Given the description of an element on the screen output the (x, y) to click on. 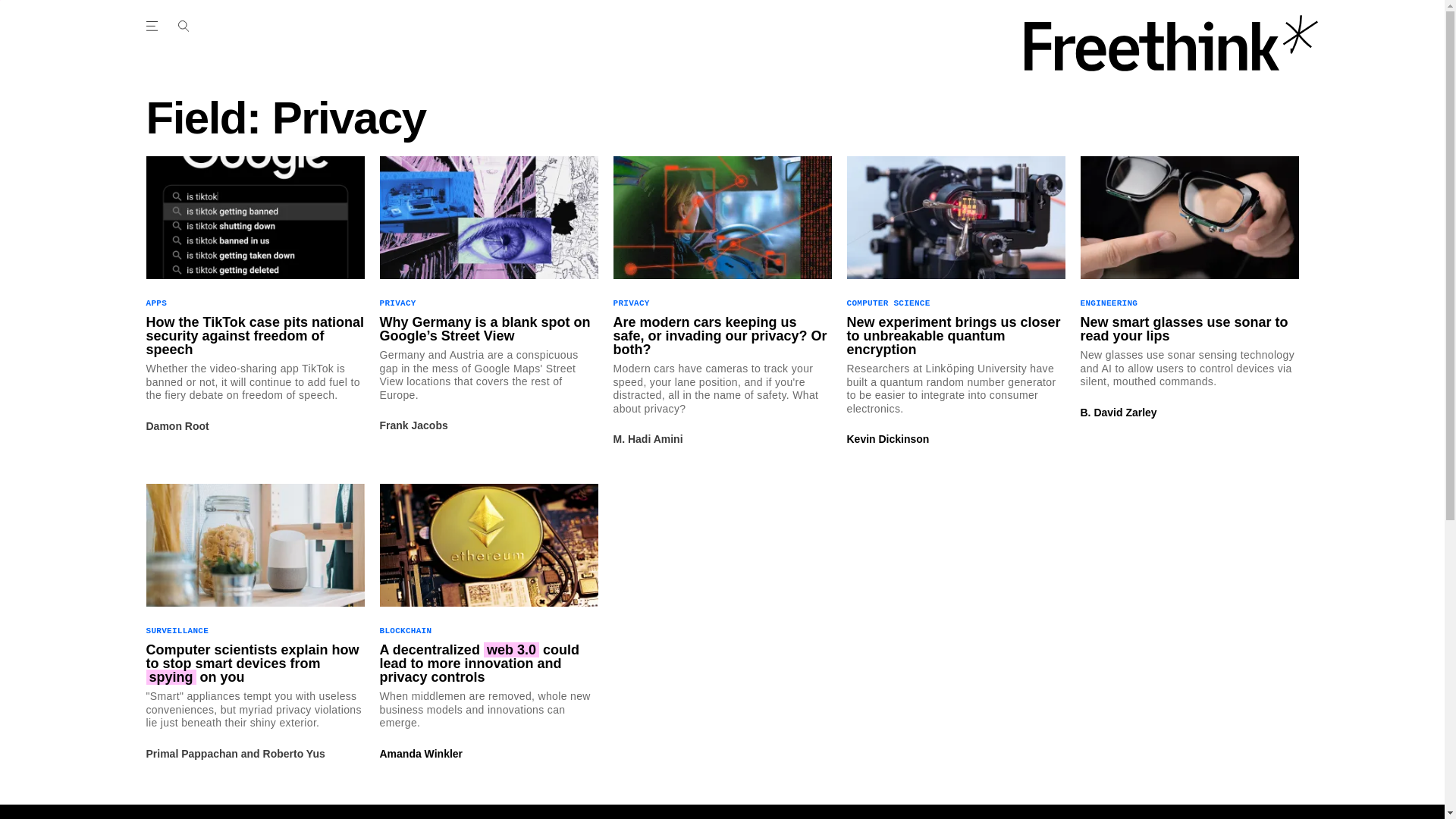
PRIVACY (630, 302)
COMPUTER SCIENCE (887, 302)
Kevin Dickinson (886, 439)
APPS (156, 302)
New smart glasses use sonar to read your lips (1189, 329)
Open the Main Navigation Menu (182, 26)
B. David Zarley (1118, 412)
Open the Main Navigation Menu (153, 26)
